Given the description of an element on the screen output the (x, y) to click on. 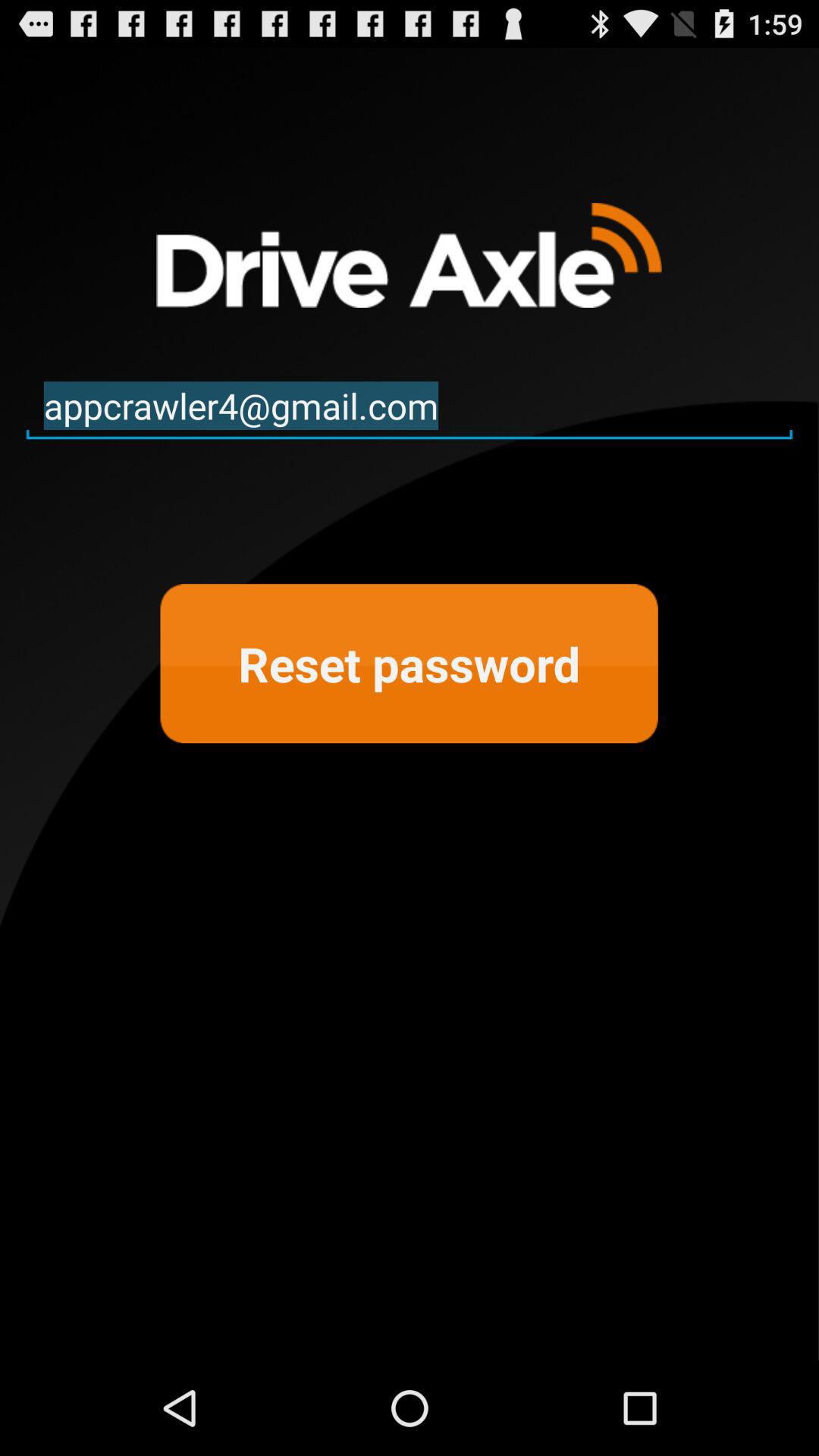
jump until the appcrawler4@gmail.com icon (409, 406)
